Given the description of an element on the screen output the (x, y) to click on. 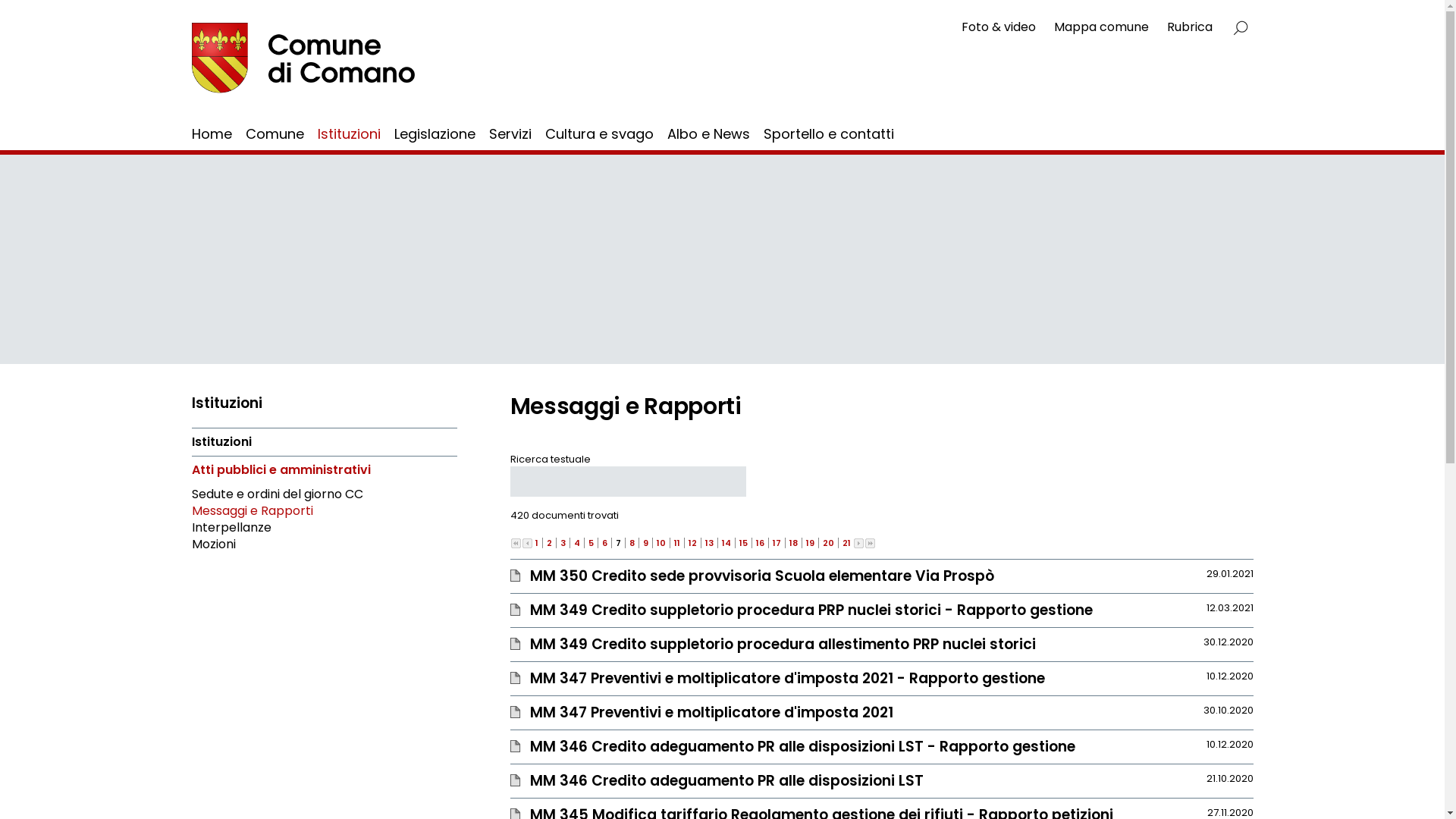
21 Element type: text (845, 542)
19 Element type: text (809, 542)
Albo e News Element type: text (708, 133)
2 Element type: text (548, 542)
MM 347 Preventivi e moltiplicatore d'imposta 2021 Element type: text (710, 712)
12 Element type: text (692, 542)
Sportello e contatti Element type: text (827, 133)
10 Element type: text (660, 542)
5 Element type: text (590, 542)
11 Element type: text (676, 542)
14 Element type: text (726, 542)
Sedute e ordini del giorno CC Element type: text (276, 494)
Istituzioni Element type: text (347, 133)
Istituzioni Element type: text (221, 441)
18 Element type: text (792, 542)
15 Element type: text (742, 542)
20 Element type: text (827, 542)
Mozioni Element type: text (213, 544)
Legislazione Element type: text (434, 133)
8 Element type: text (631, 542)
Rubrica Element type: text (1188, 26)
Cultura e svago Element type: text (598, 133)
Messaggi e Rapporti Element type: text (251, 510)
Servizi Element type: text (509, 133)
Comune Element type: text (274, 133)
1 Element type: text (536, 542)
Interpellanze Element type: text (230, 527)
13 Element type: text (709, 542)
17 Element type: text (775, 542)
MM 346 Credito adeguamento PR alle disposizioni LST Element type: text (725, 780)
Foto & video Element type: text (998, 26)
6 Element type: text (604, 542)
4 Element type: text (576, 542)
9 Element type: text (645, 542)
Home Element type: text (211, 133)
Mappa comune Element type: text (1101, 26)
3 Element type: text (561, 542)
16 Element type: text (759, 542)
Atti pubblici e amministrativi Element type: text (280, 469)
